Given the description of an element on the screen output the (x, y) to click on. 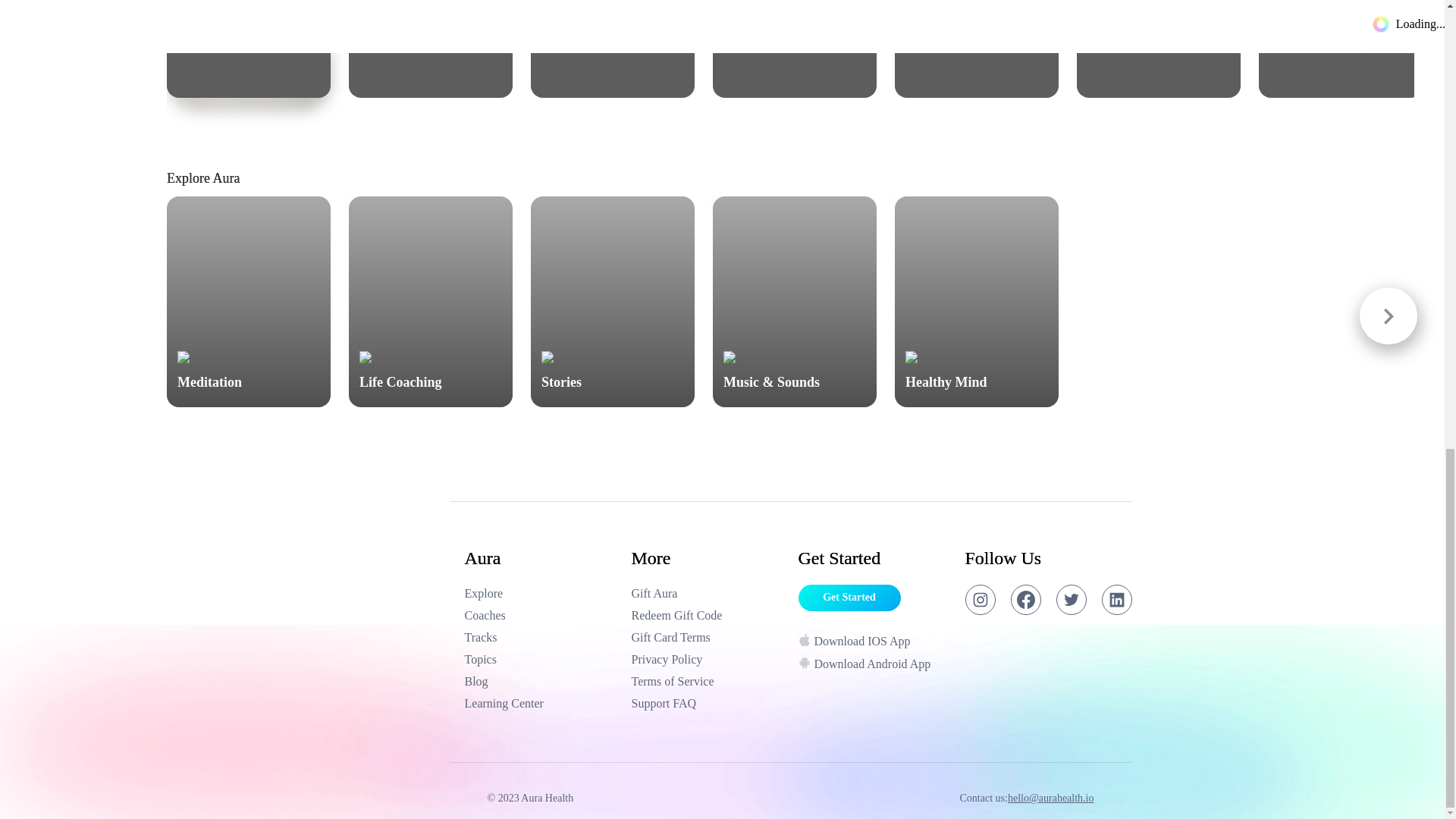
Explore (539, 593)
Privacy Policy (612, 48)
Tracks (794, 48)
Terms of Service (706, 659)
Gift Card Terms (539, 637)
Blog (706, 681)
